Given the description of an element on the screen output the (x, y) to click on. 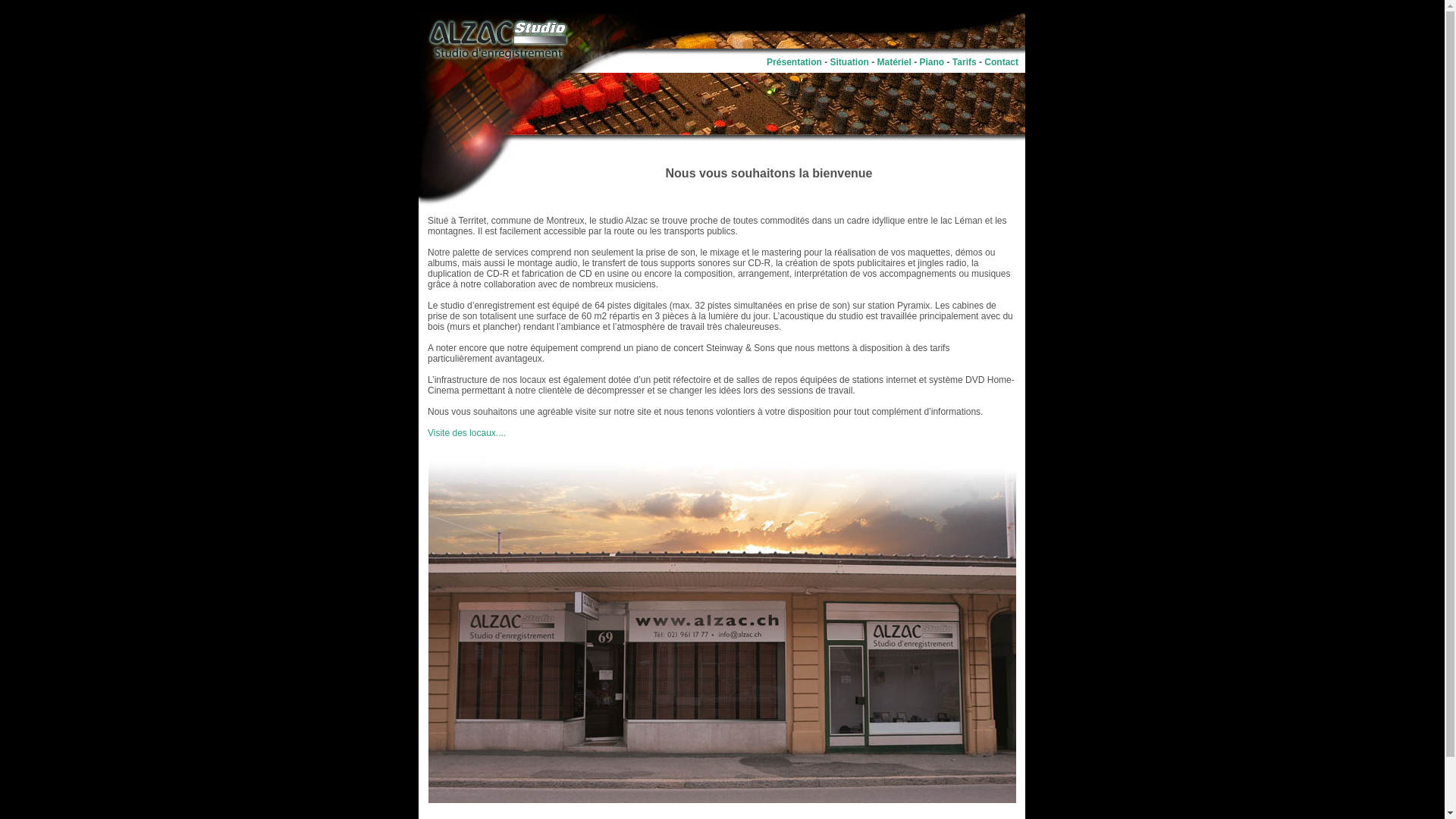
Situation Element type: text (848, 61)
Visite des locaux.... Element type: text (466, 432)
Contact Element type: text (1001, 61)
Tarifs Element type: text (964, 61)
Piano Element type: text (931, 61)
